Given the description of an element on the screen output the (x, y) to click on. 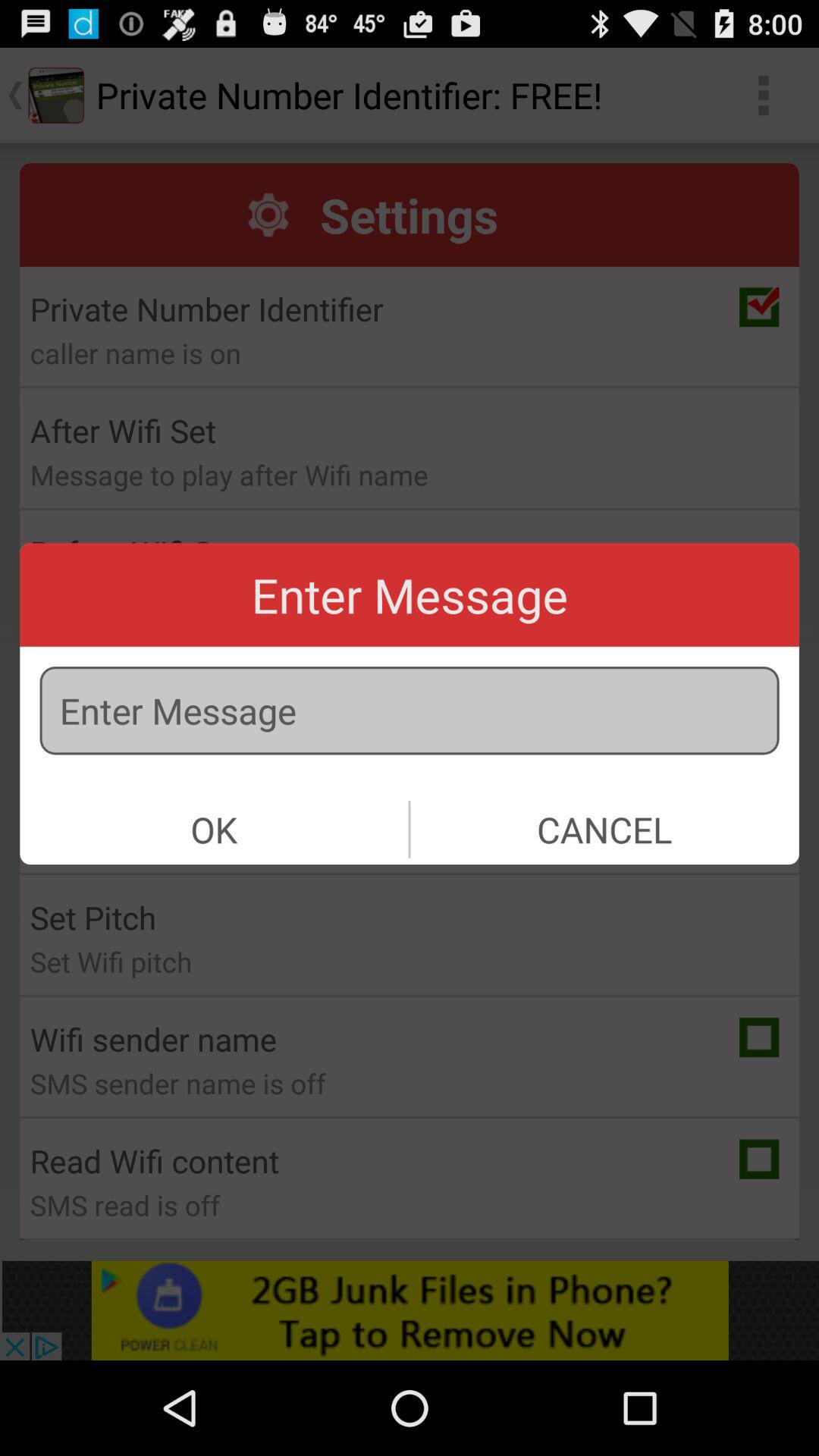
message text box (409, 710)
